Given the description of an element on the screen output the (x, y) to click on. 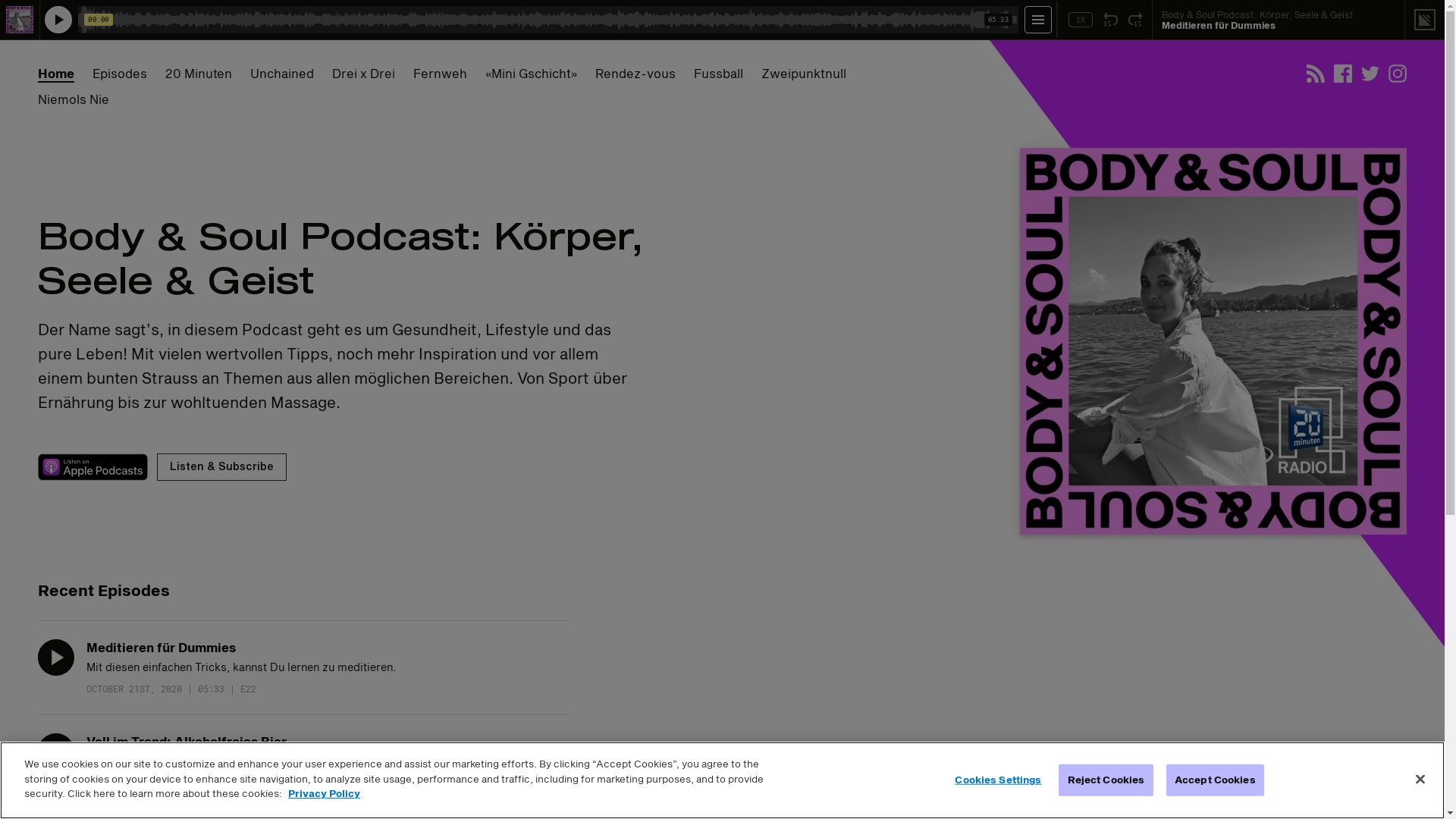
1X Element type: text (1080, 19)
Accept Cookies Element type: text (1215, 780)
Instagram Element type: hover (1397, 73)
Zweipunktnull Element type: text (803, 73)
20 Minuten Element type: text (198, 73)
Fernweh Element type: text (440, 73)
Niemols Nie Element type: text (73, 99)
Unchained Element type: text (281, 73)
Fussball Element type: text (718, 73)
Drei x Drei Element type: text (363, 73)
Facebook Element type: hover (1342, 73)
Rendez-vous Element type: text (635, 73)
15 Element type: text (1110, 19)
Home Element type: text (55, 73)
Reject Cookies Element type: text (1105, 780)
Cookies Settings Element type: text (997, 780)
Listen & Subscribe Element type: text (221, 466)
Privacy Policy Element type: text (324, 793)
Twitter Element type: hover (1370, 73)
Episodes Element type: text (119, 73)
Voll im Trend: Alkoholfreies Bier Element type: text (186, 741)
RSS Element type: hover (1315, 73)
15 Element type: text (1135, 19)
